Given the description of an element on the screen output the (x, y) to click on. 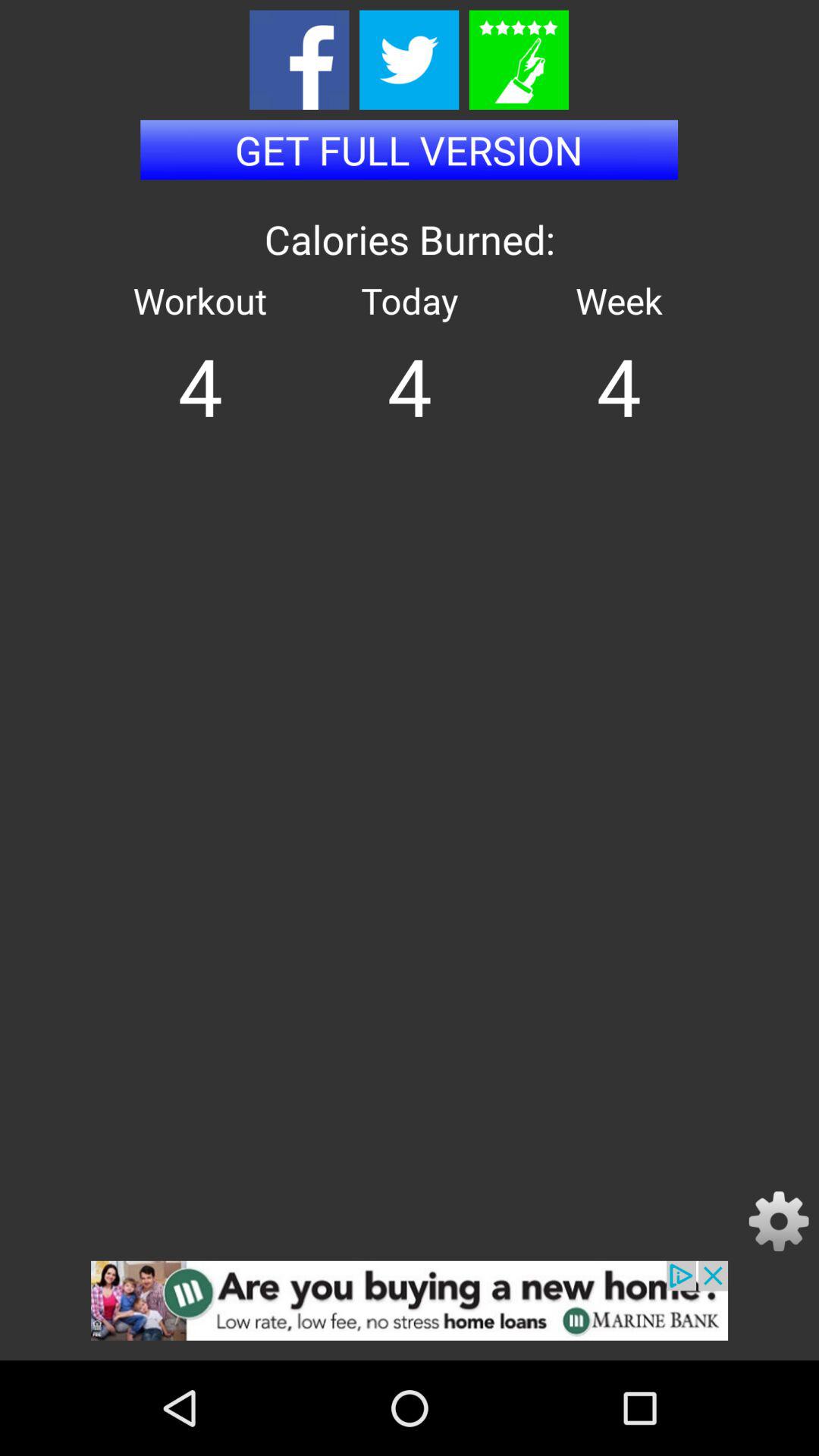
opens facebook page of app (299, 59)
